Given the description of an element on the screen output the (x, y) to click on. 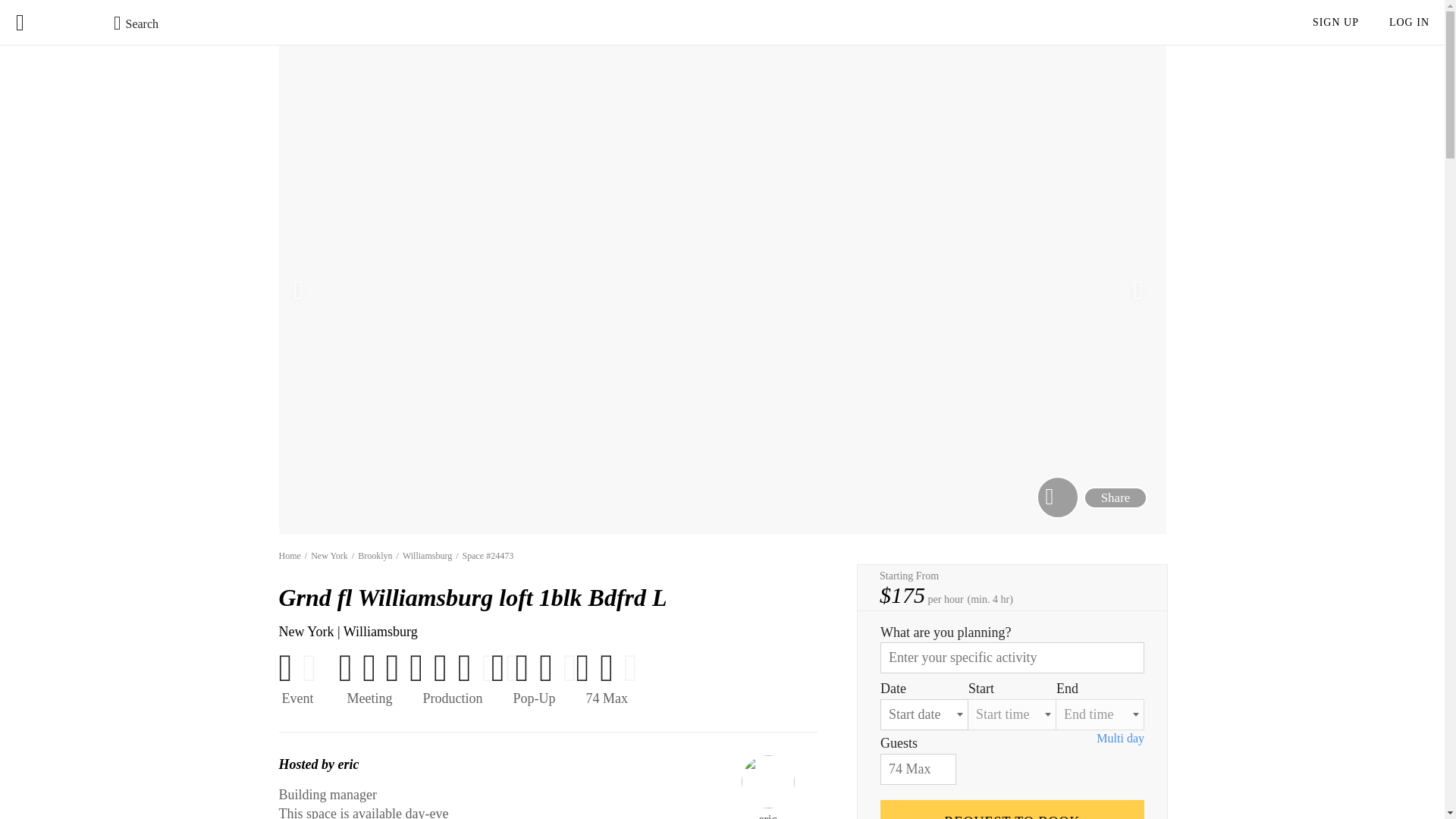
New York (329, 553)
SIGN UP (1335, 22)
Home (290, 553)
Williamsburg (427, 553)
Visit eric's profile (767, 787)
eric (767, 787)
Request to Book (1012, 809)
Brooklyn (374, 553)
